Given the description of an element on the screen output the (x, y) to click on. 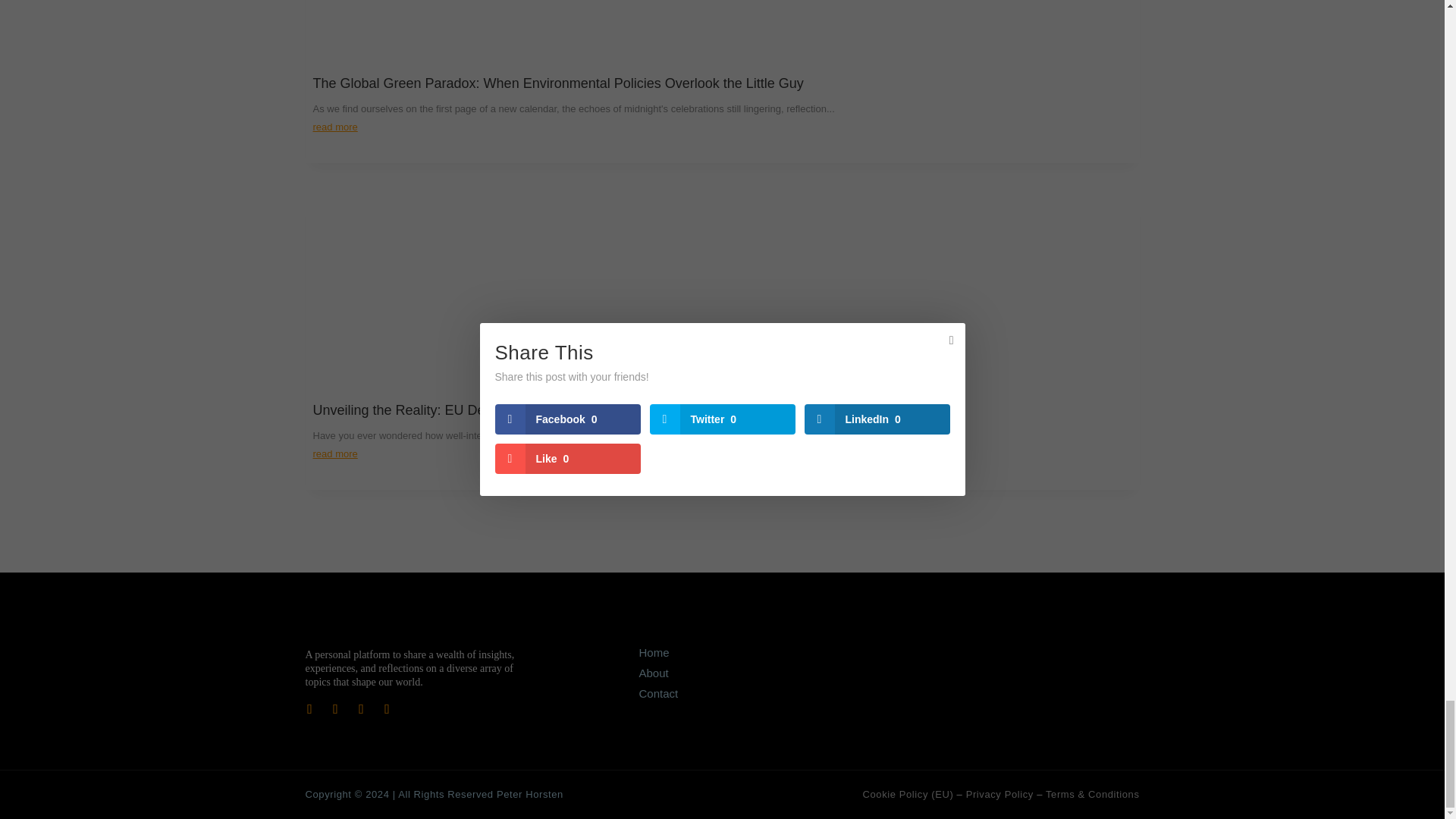
Contact me (658, 693)
Follow on LinkedIn (360, 708)
petersopinion white orange transp 250px (373, 626)
Follow on X (335, 708)
Home - PetersOpinion.com (653, 652)
That's me (653, 672)
Follow on Instagram (386, 708)
Follow on Facebook (309, 708)
